Given the description of an element on the screen output the (x, y) to click on. 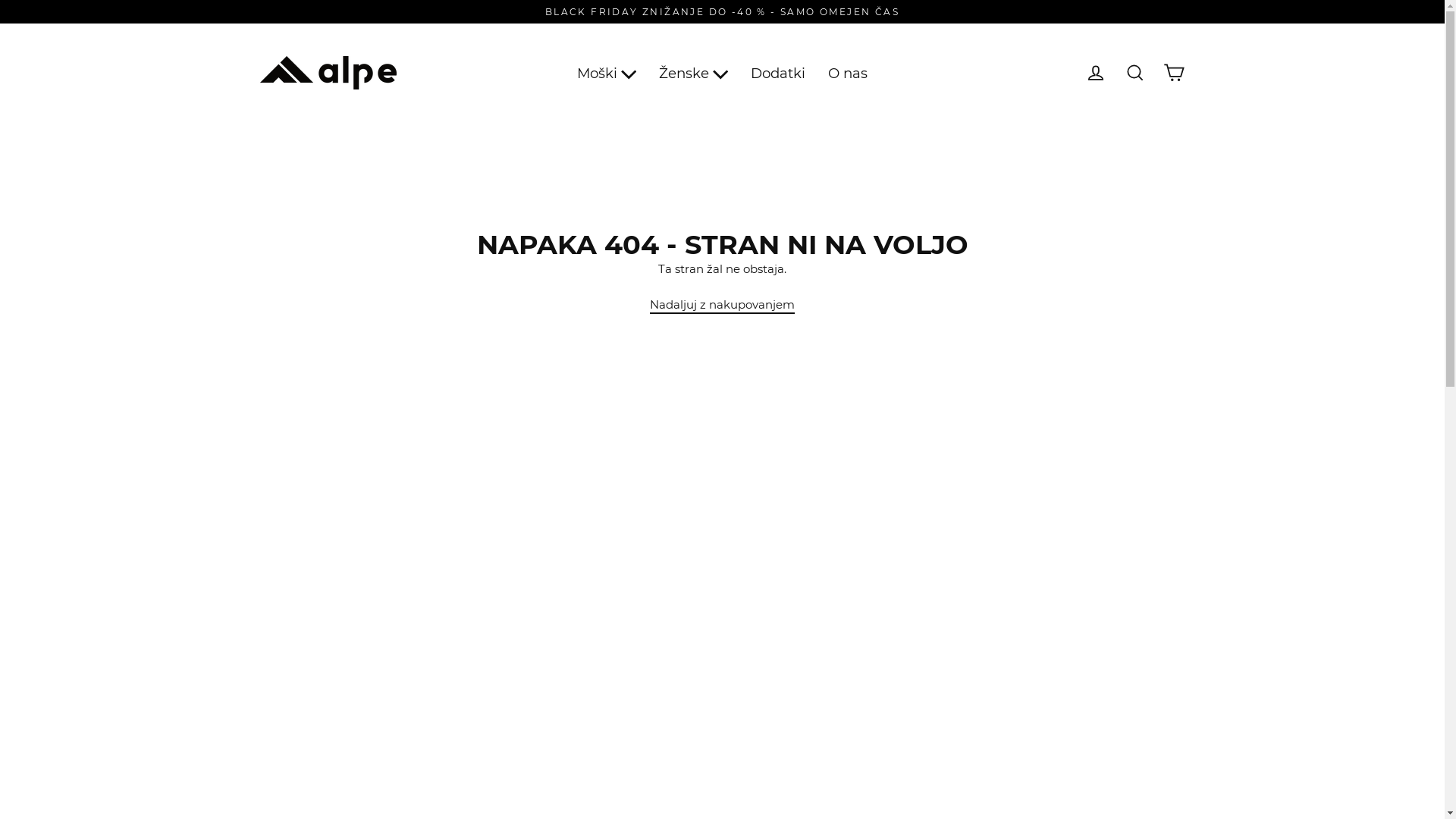
Prijavi se Element type: text (1094, 72)
Iskanje Element type: text (1134, 72)
Dodatki Element type: text (777, 72)
O nas Element type: text (847, 72)
Nadaljuj z nakupovanjem Element type: text (721, 304)
